Given the description of an element on the screen output the (x, y) to click on. 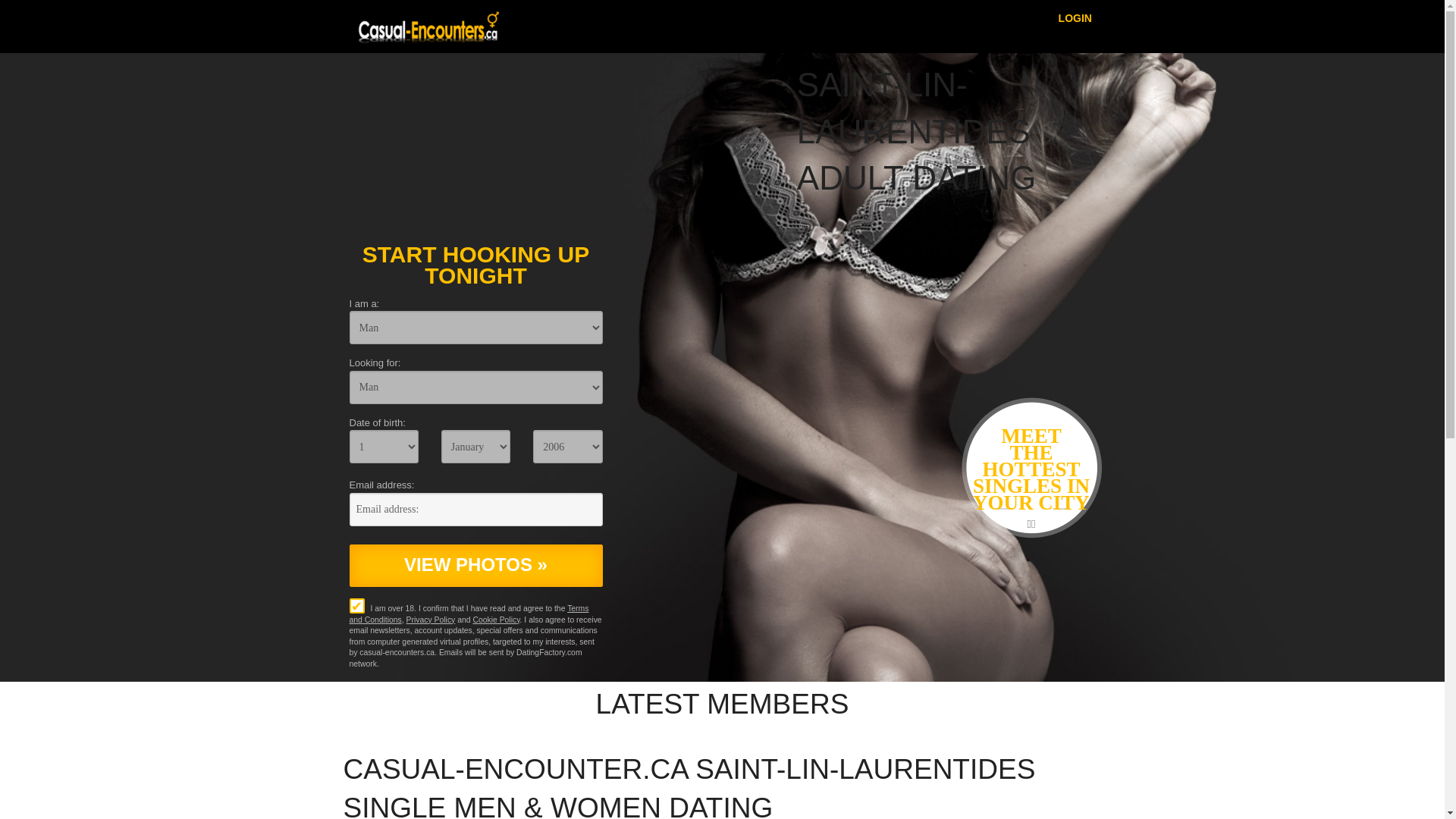
LOGIN (1074, 17)
Terms and Conditions (468, 614)
Cookie Policy (495, 619)
Privacy Policy (430, 619)
